Given the description of an element on the screen output the (x, y) to click on. 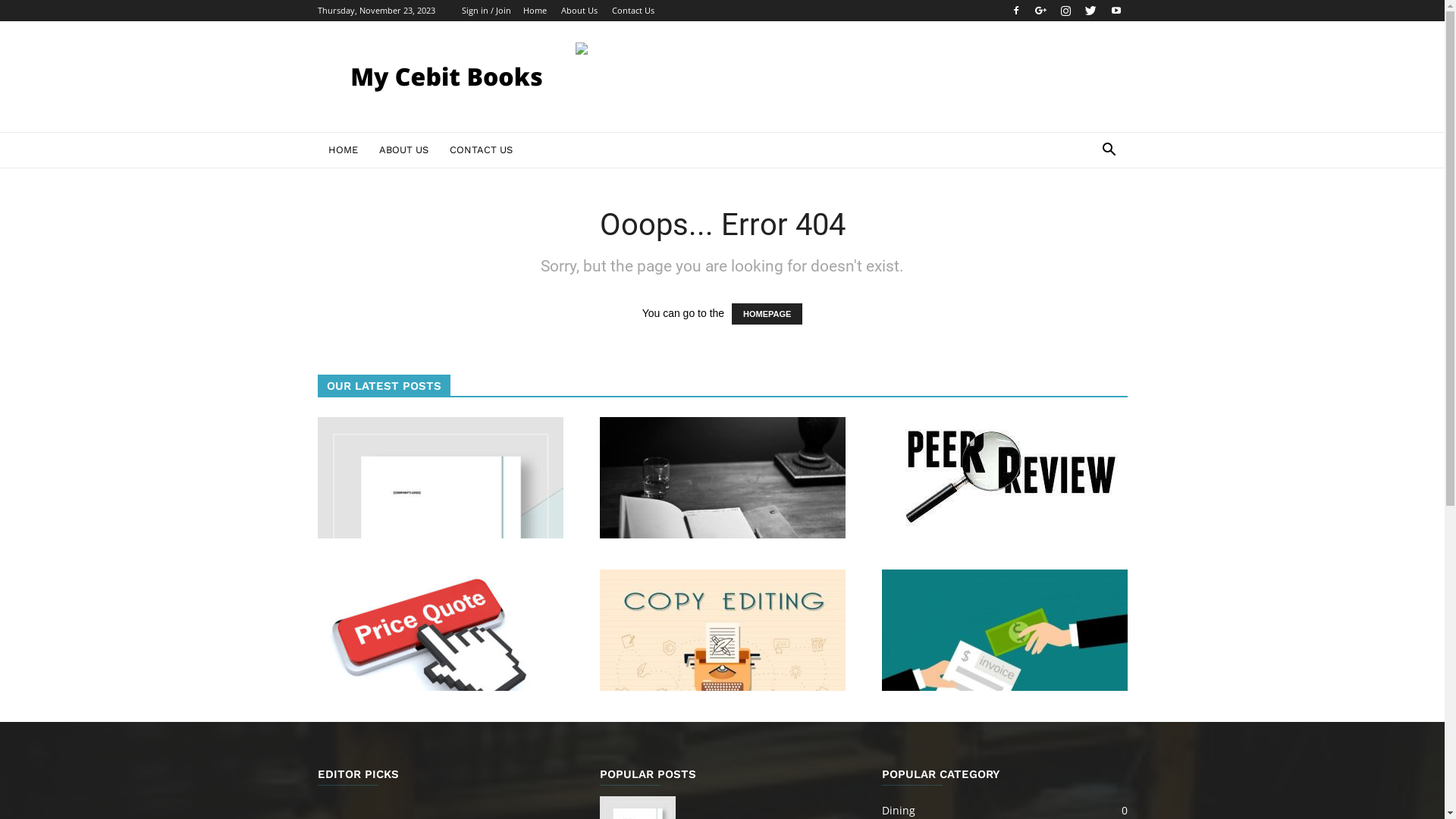
Home Element type: text (534, 9)
Search Element type: text (1085, 210)
HOME Element type: text (341, 149)
Contact Us Element type: text (632, 9)
About Us Element type: text (579, 9)
Instagram Element type: hover (1065, 10)
Facebook Element type: hover (1015, 10)
Sign in / Join Element type: text (485, 9)
ABOUT US Element type: text (403, 149)
CONTACT US Element type: text (480, 149)
Youtube Element type: hover (1115, 10)
HOMEPAGE Element type: text (766, 313)
Google+ Element type: hover (1040, 10)
Twitter Element type: hover (1090, 10)
Dining
0 Element type: text (897, 810)
